Given the description of an element on the screen output the (x, y) to click on. 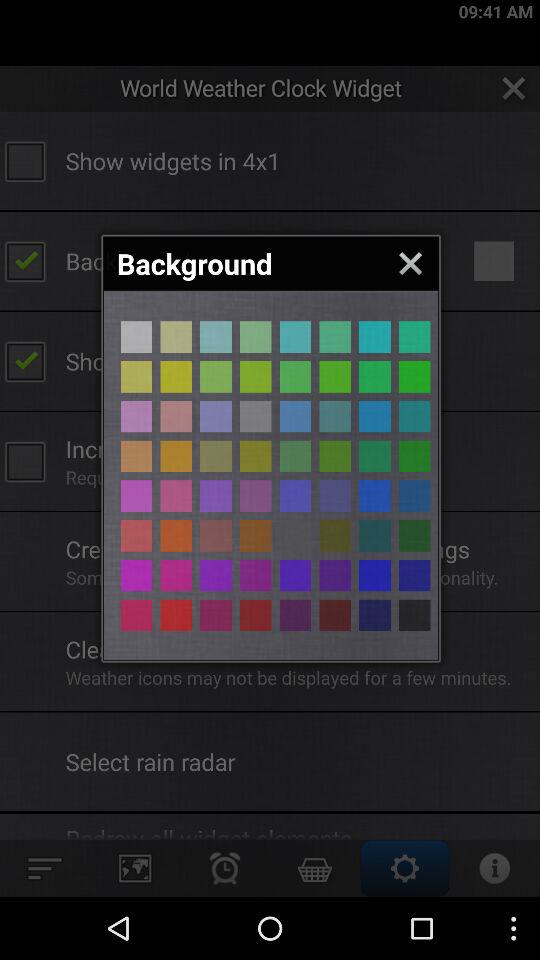
background colour selection (295, 456)
